Given the description of an element on the screen output the (x, y) to click on. 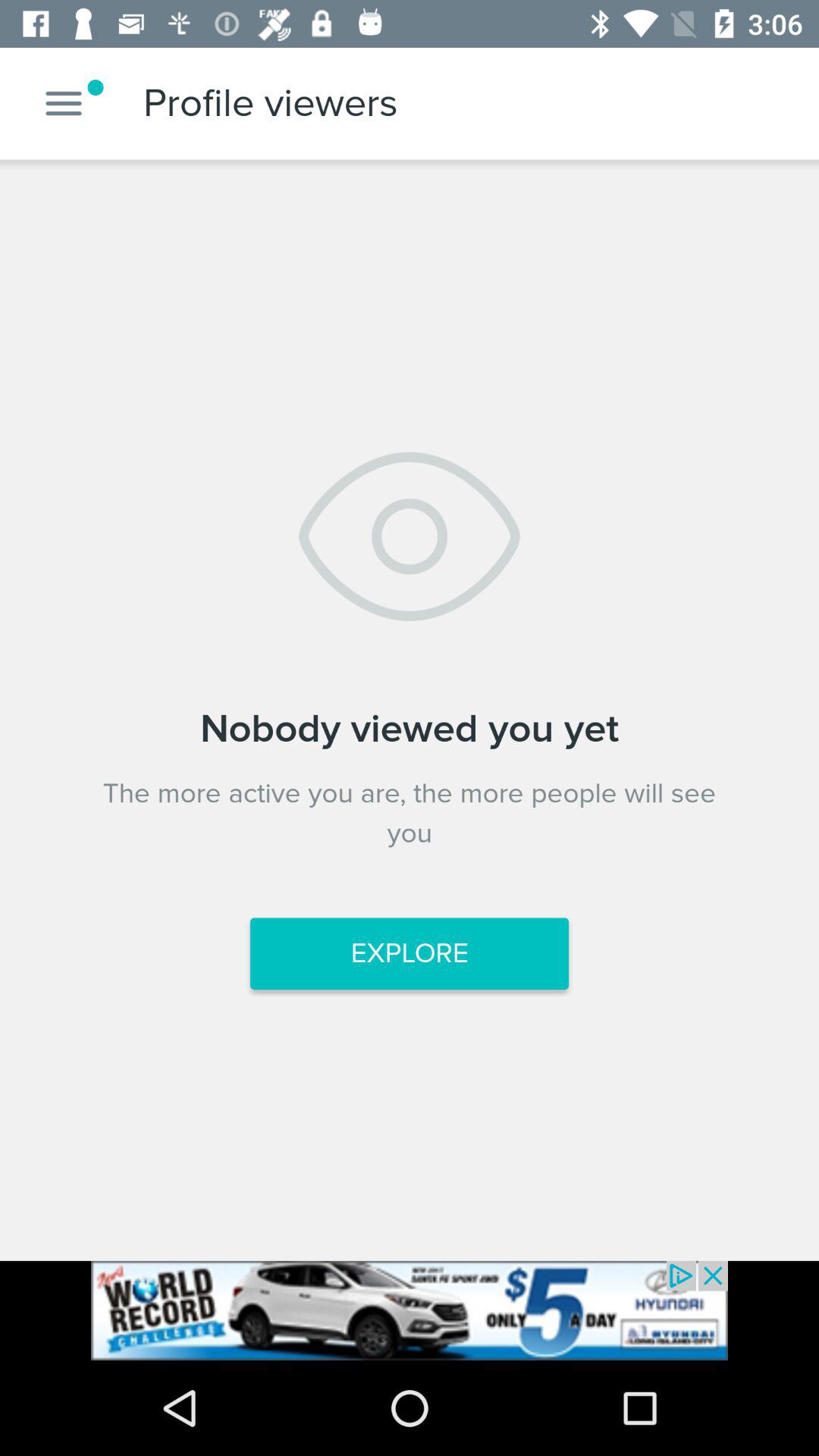
advrtisment (409, 1310)
